Given the description of an element on the screen output the (x, y) to click on. 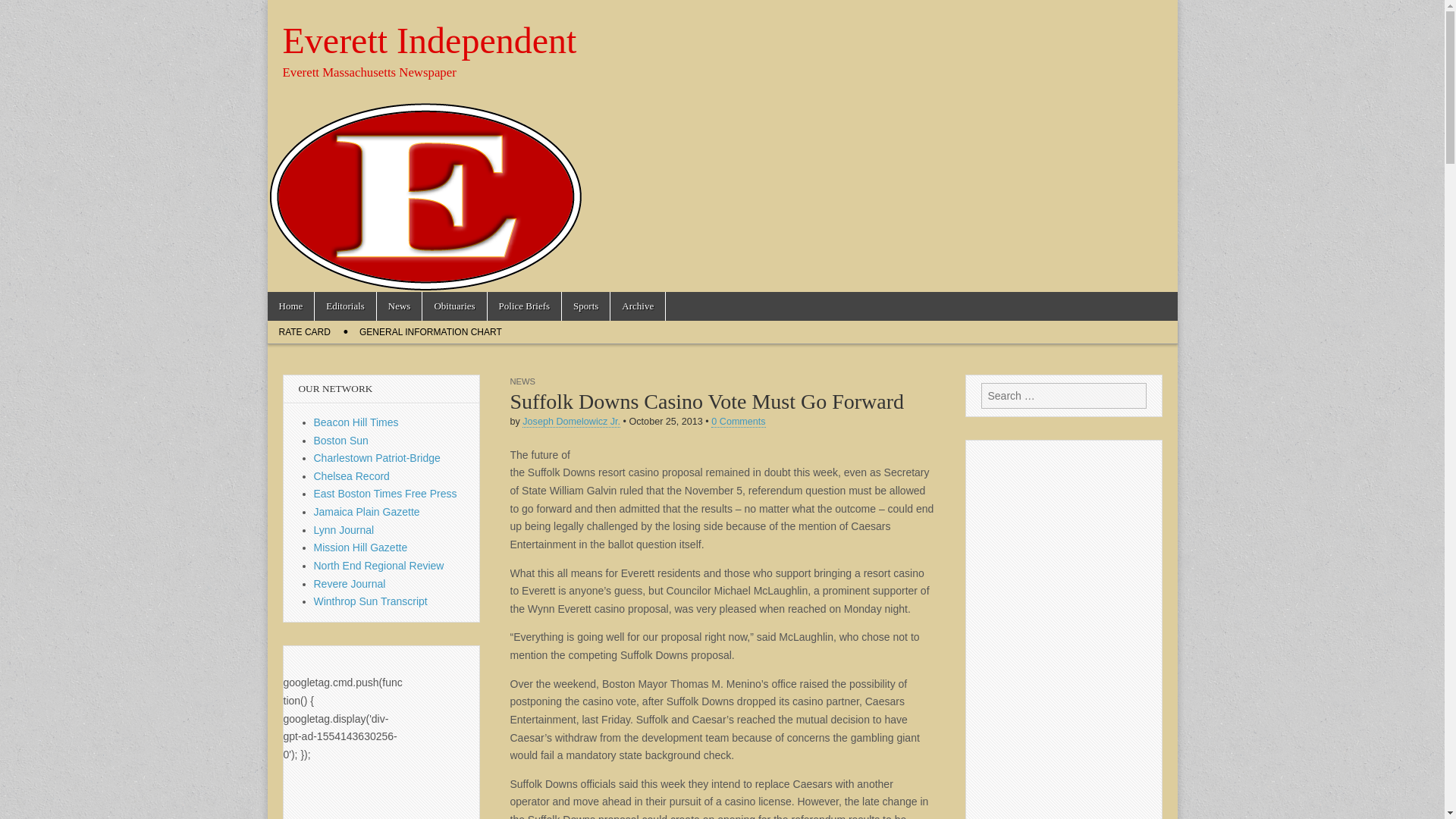
Everett Independent (429, 40)
Posts by Joseph Domelowicz Jr. (571, 421)
Mission Hill Gazette (360, 547)
North End Regional Review (379, 565)
Beacon Hill Times (356, 422)
East Boston Times Free Press (385, 493)
Joseph Domelowicz Jr. (571, 421)
Sports (586, 306)
Editorials (344, 306)
Obituaries (454, 306)
Lynn Journal (344, 530)
Charlestown Patriot-Bridge (377, 458)
Archive (637, 306)
News (399, 306)
